Given the description of an element on the screen output the (x, y) to click on. 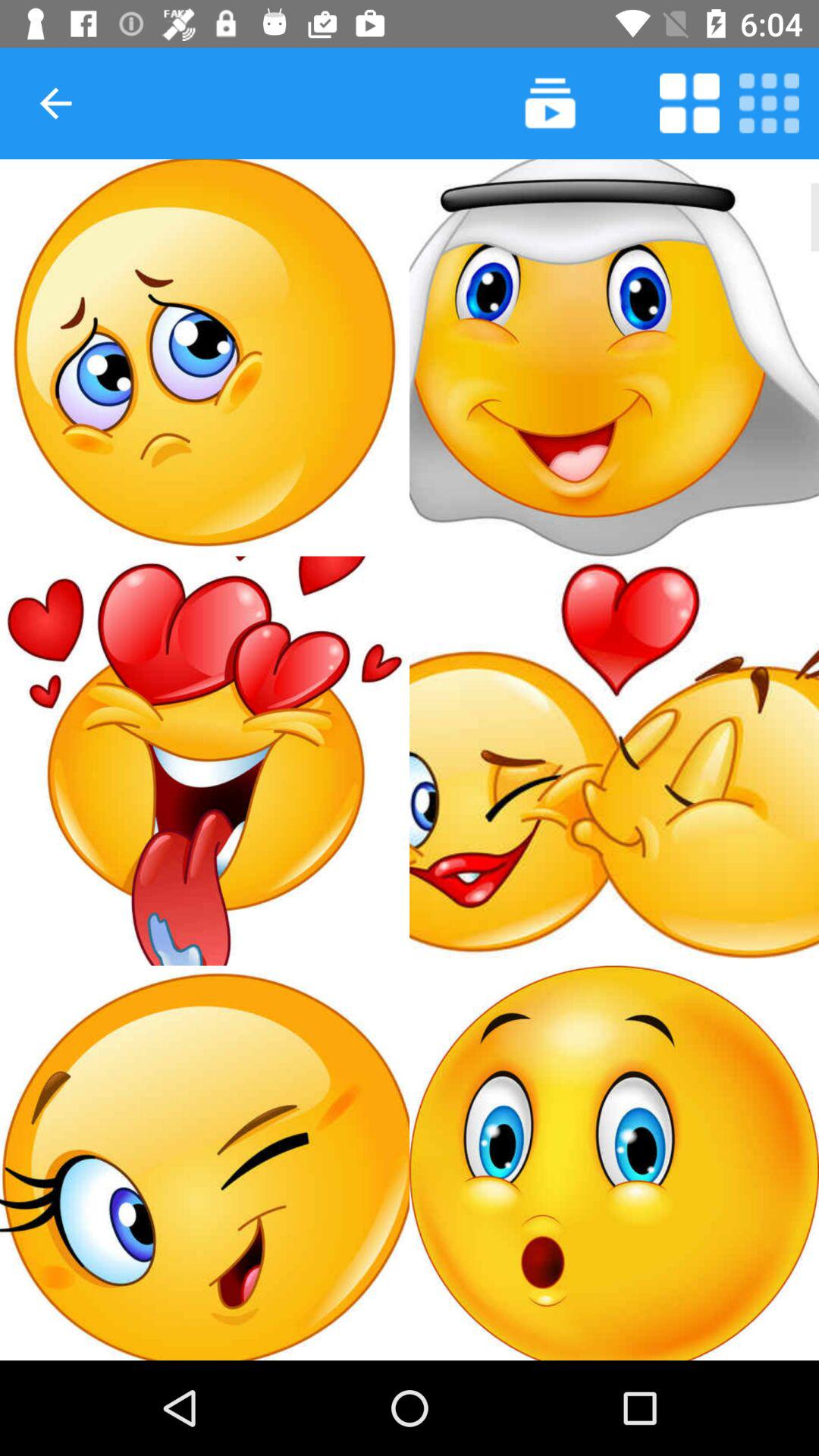
use emoji (204, 760)
